Given the description of an element on the screen output the (x, y) to click on. 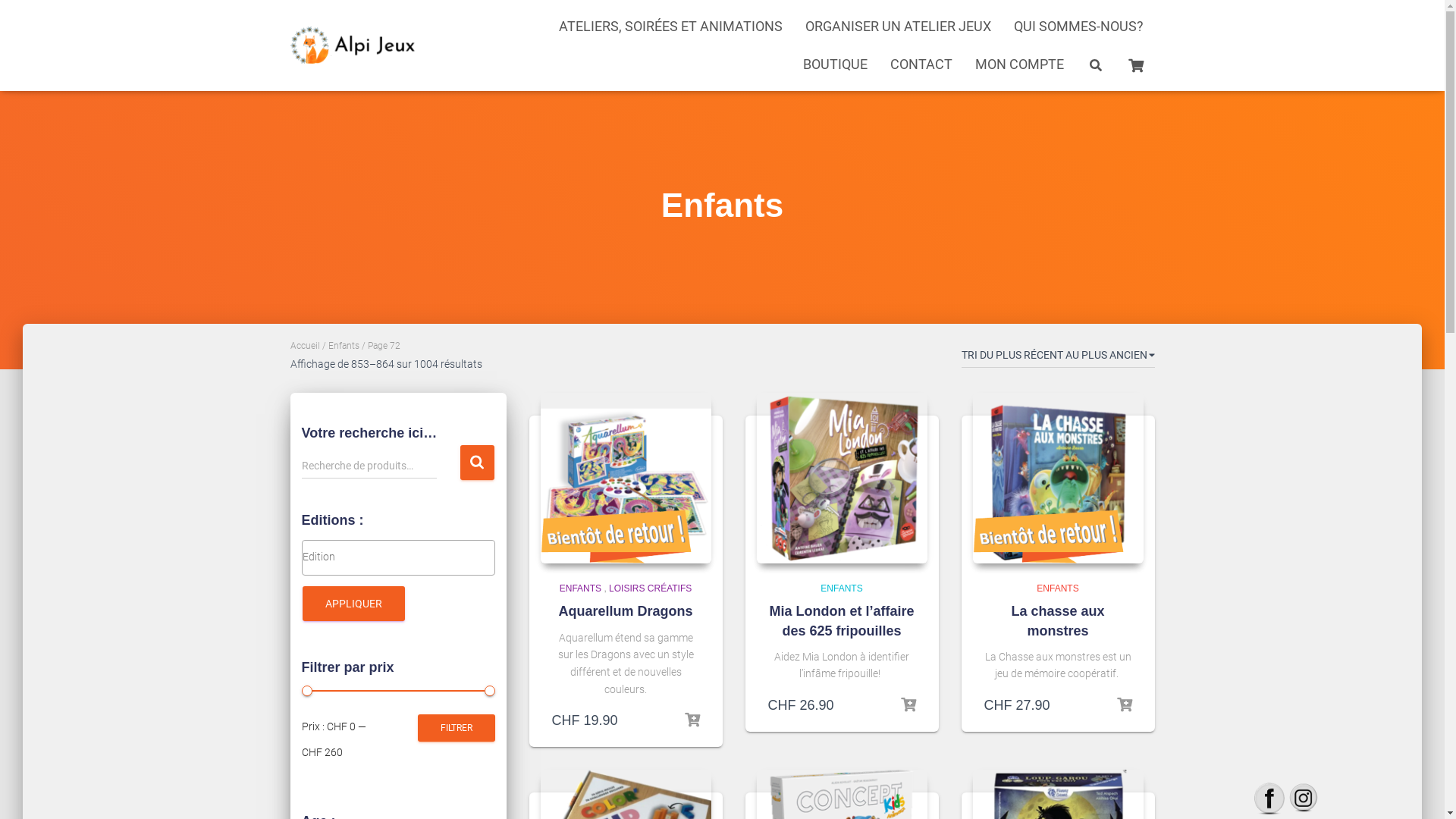
La chasse aux monstres Element type: hover (1057, 477)
Ajouter au panier Element type: hover (1123, 704)
Ajouter au panier Element type: hover (691, 720)
FILTRER Element type: text (455, 727)
Enfants Element type: text (342, 345)
QUI SOMMES-NOUS? Element type: text (1078, 26)
ORGANISER UN ATELIER JEUX Element type: text (897, 26)
Aquarellum Dragons Element type: text (625, 610)
APPLIQUER Element type: text (352, 603)
ENFANTS Element type: text (841, 588)
Instagram Element type: hover (1303, 797)
Aquarellum Dragons Element type: hover (624, 477)
La chasse aux monstres Element type: text (1057, 620)
CONTACT Element type: text (920, 64)
RECHERCHE Element type: text (476, 462)
Accueil Element type: text (304, 345)
MON COMPTE Element type: text (1018, 64)
Alpi Jeux Element type: hover (354, 45)
ENFANTS Element type: text (580, 588)
BOUTIQUE Element type: text (834, 64)
View cart Element type: hover (1135, 63)
Facebook Element type: hover (1269, 797)
Rechercher Element type: text (3, 16)
ENFANTS Element type: text (1057, 588)
Ajouter au panier Element type: hover (908, 704)
